Given the description of an element on the screen output the (x, y) to click on. 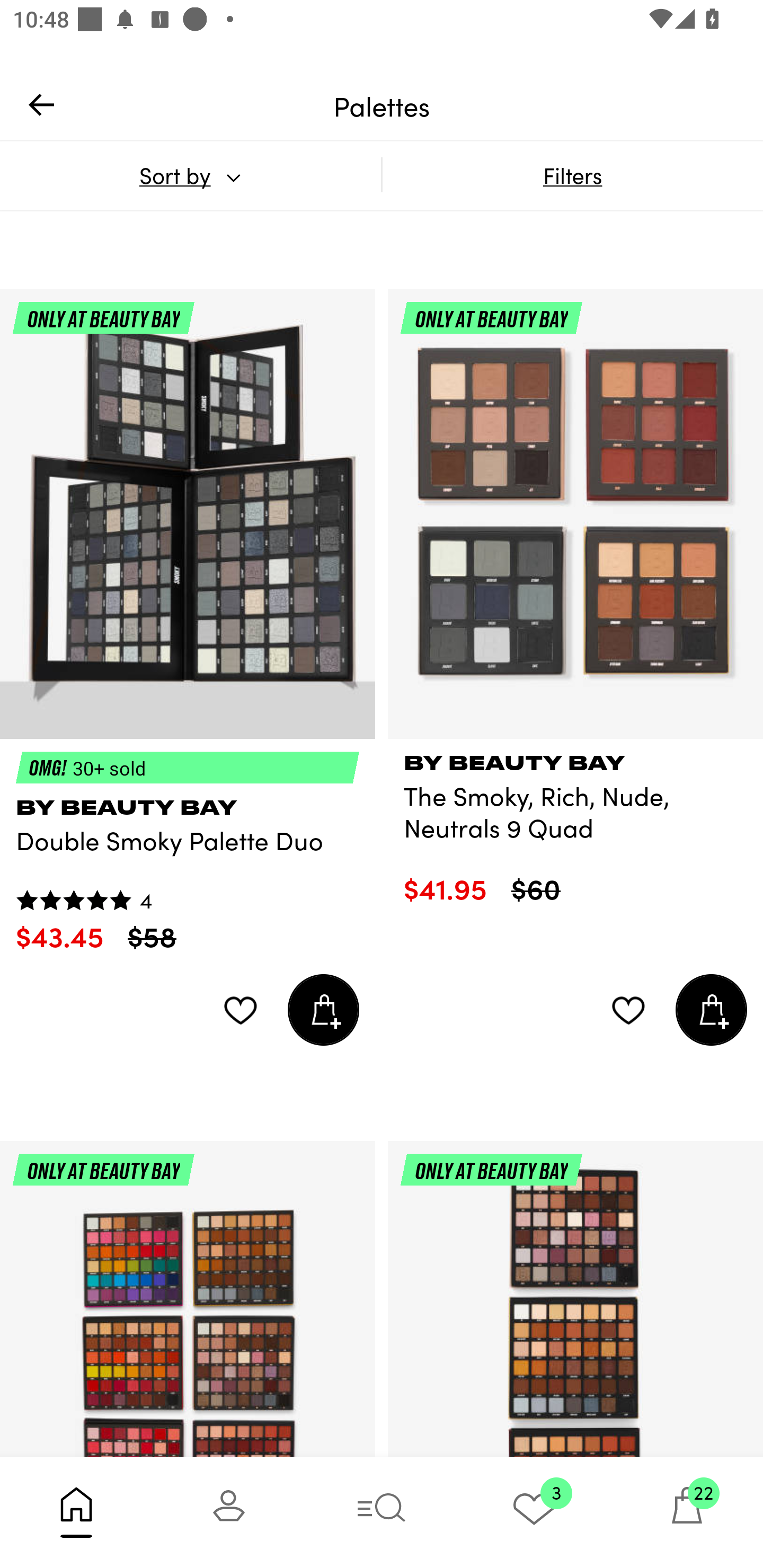
Sort by (190, 174)
Filters (572, 174)
3 (533, 1512)
22 (686, 1512)
